Given the description of an element on the screen output the (x, y) to click on. 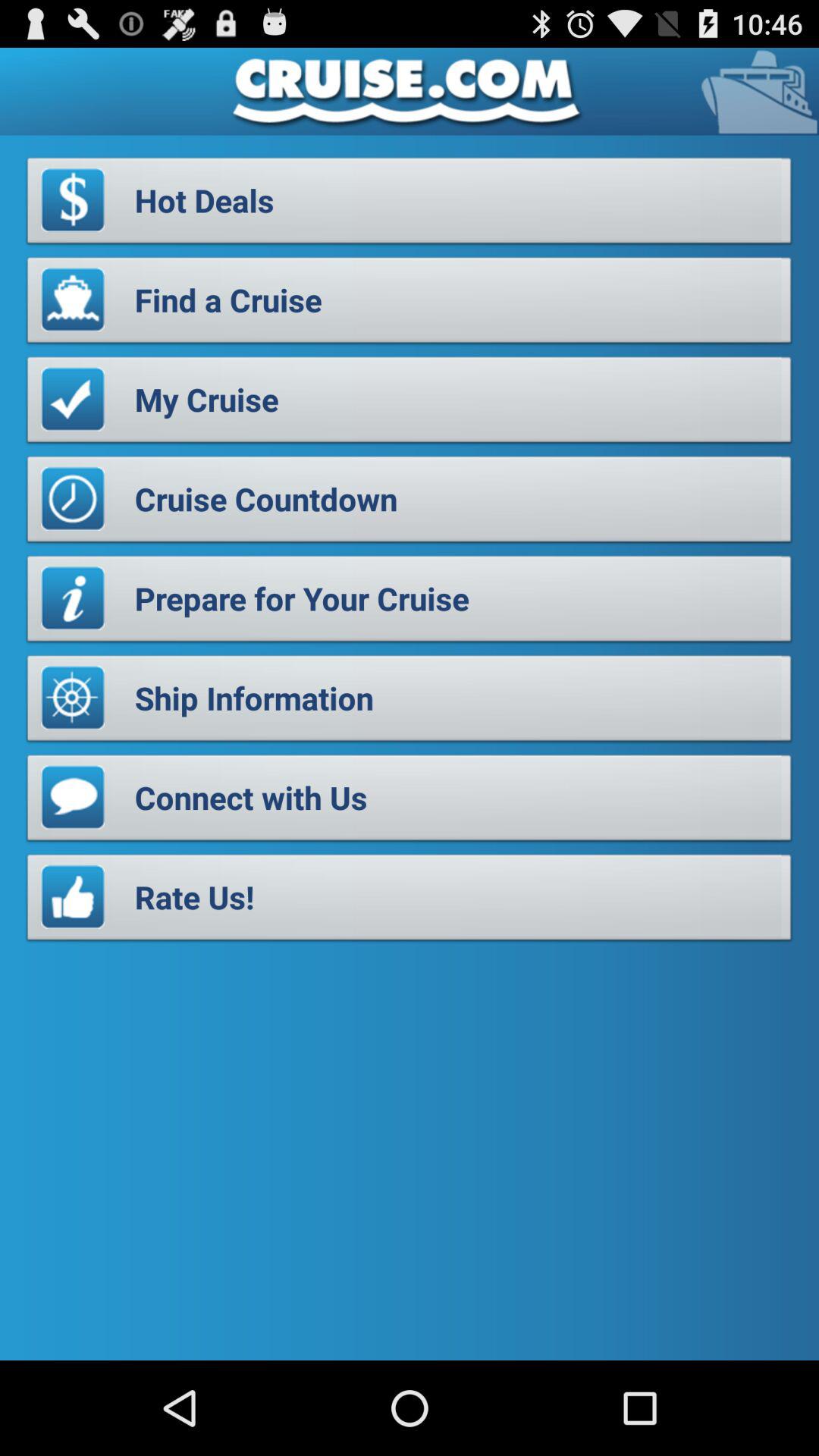
swipe until hot deals item (409, 204)
